Given the description of an element on the screen output the (x, y) to click on. 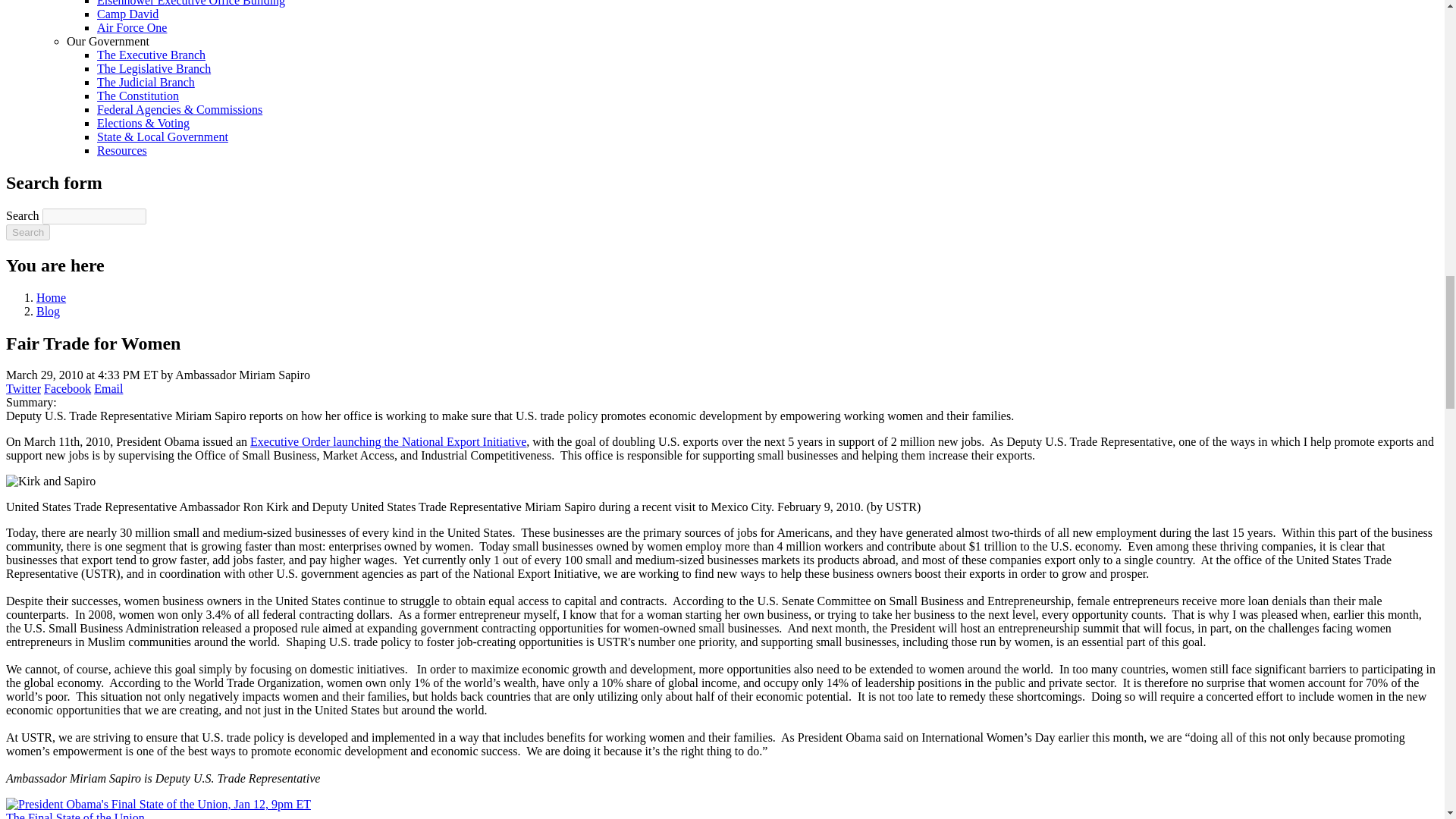
Twitter (22, 388)
Enter the terms you wish to search for. (94, 216)
Kirk and Sapiro (50, 481)
Email (108, 388)
Facebook (66, 388)
Search (27, 232)
